Given the description of an element on the screen output the (x, y) to click on. 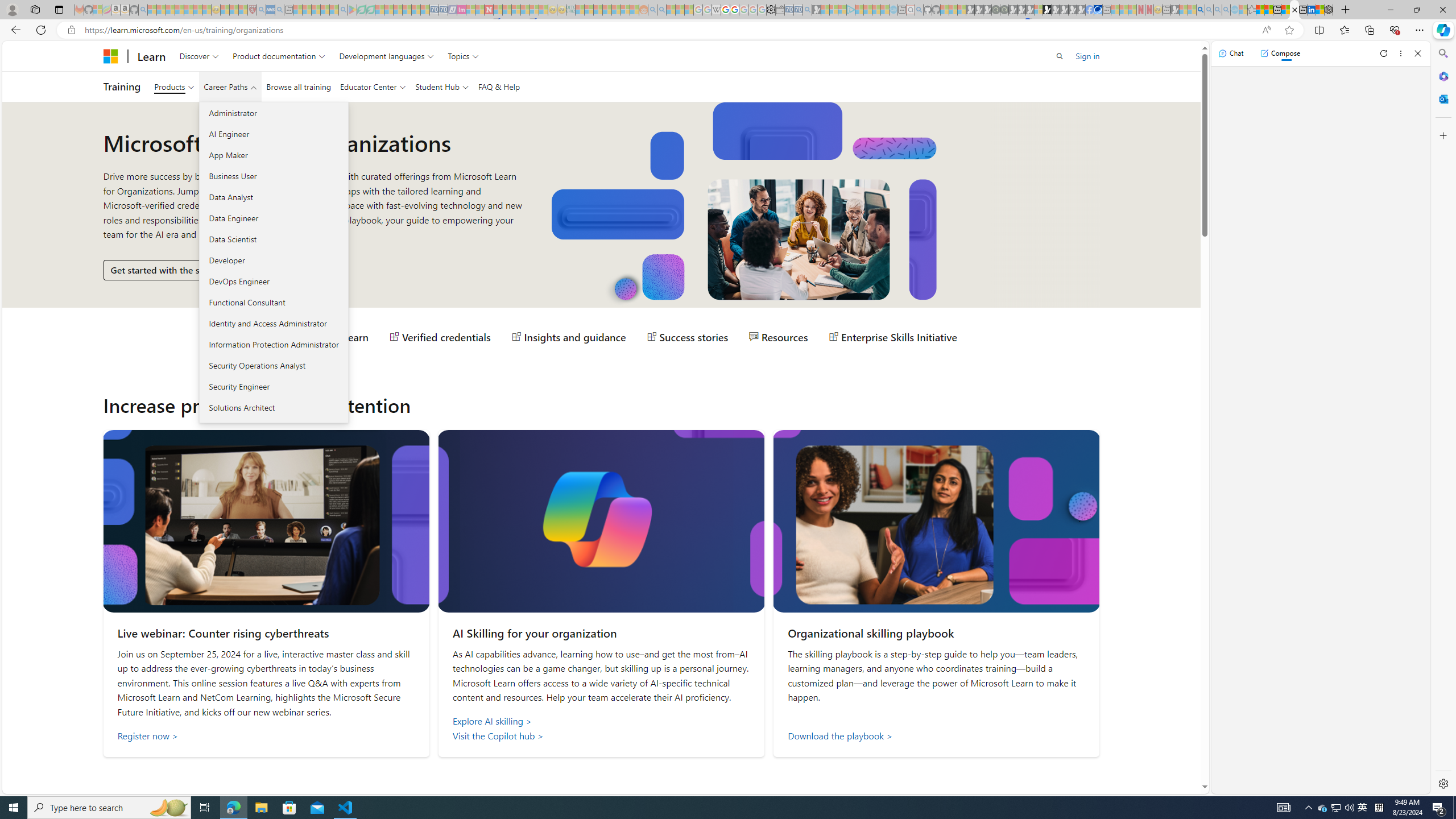
Business User (273, 175)
Browse all training (298, 86)
Security Engineer (273, 386)
Information Protection Administrator (273, 344)
Identity and Access Administrator (273, 323)
Development languages (386, 55)
Open search (1059, 55)
Favorites - Sleeping (1251, 9)
LinkedIn (1311, 9)
